Given the description of an element on the screen output the (x, y) to click on. 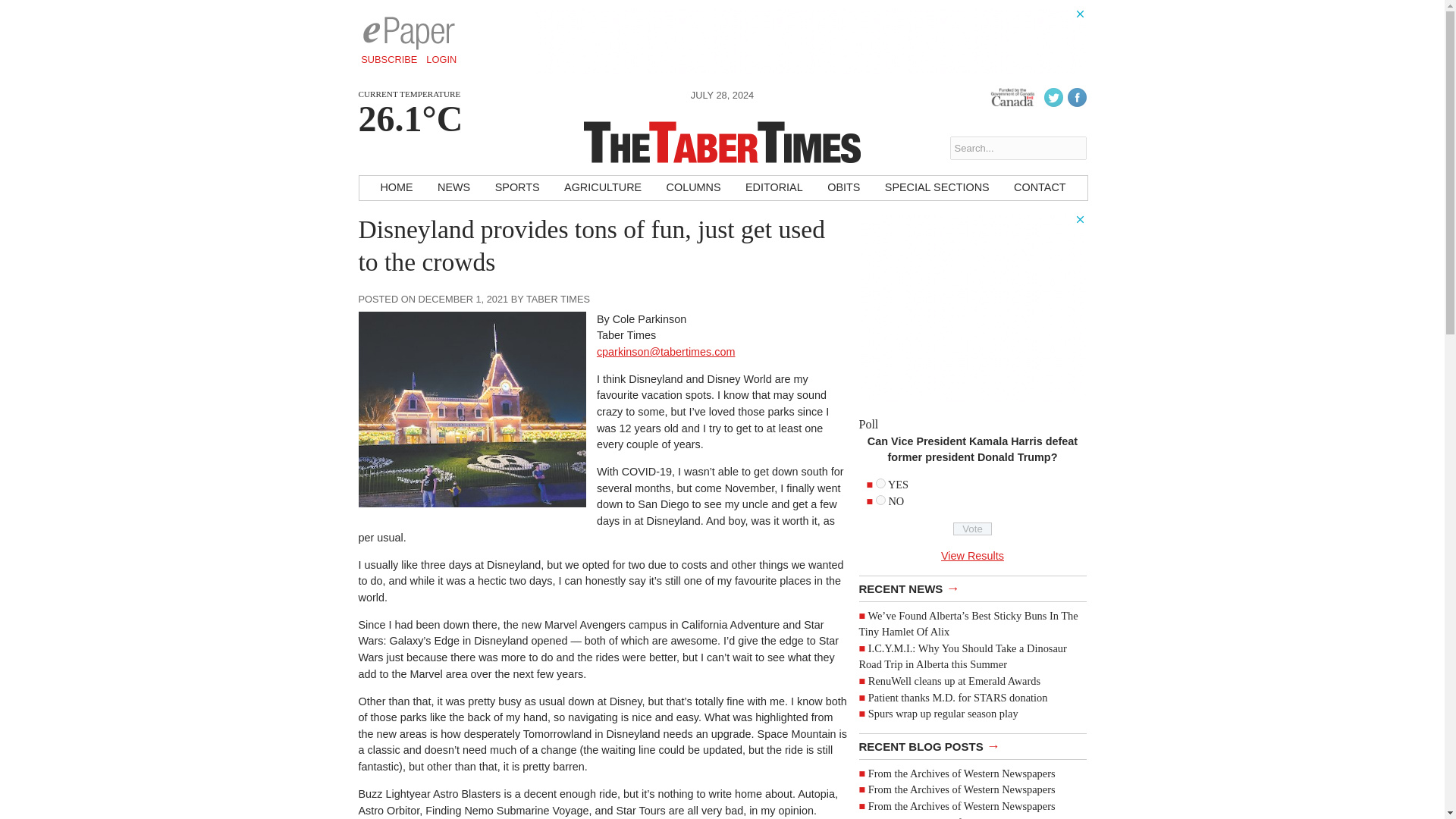
CONTACT (1039, 187)
From the Archives of Western Newspapers (961, 788)
RenuWell cleans up at Emerald Awards (954, 680)
COLUMNS (694, 187)
View Results (972, 555)
3rd party ad content (972, 307)
EDITORIAL (774, 187)
SUBSCRIBE (389, 58)
Spurs wrap up regular season play (942, 713)
3rd party ad content (810, 41)
SPORTS (517, 187)
   Vote    (972, 528)
HOME (396, 187)
NEWS (453, 187)
